Given the description of an element on the screen output the (x, y) to click on. 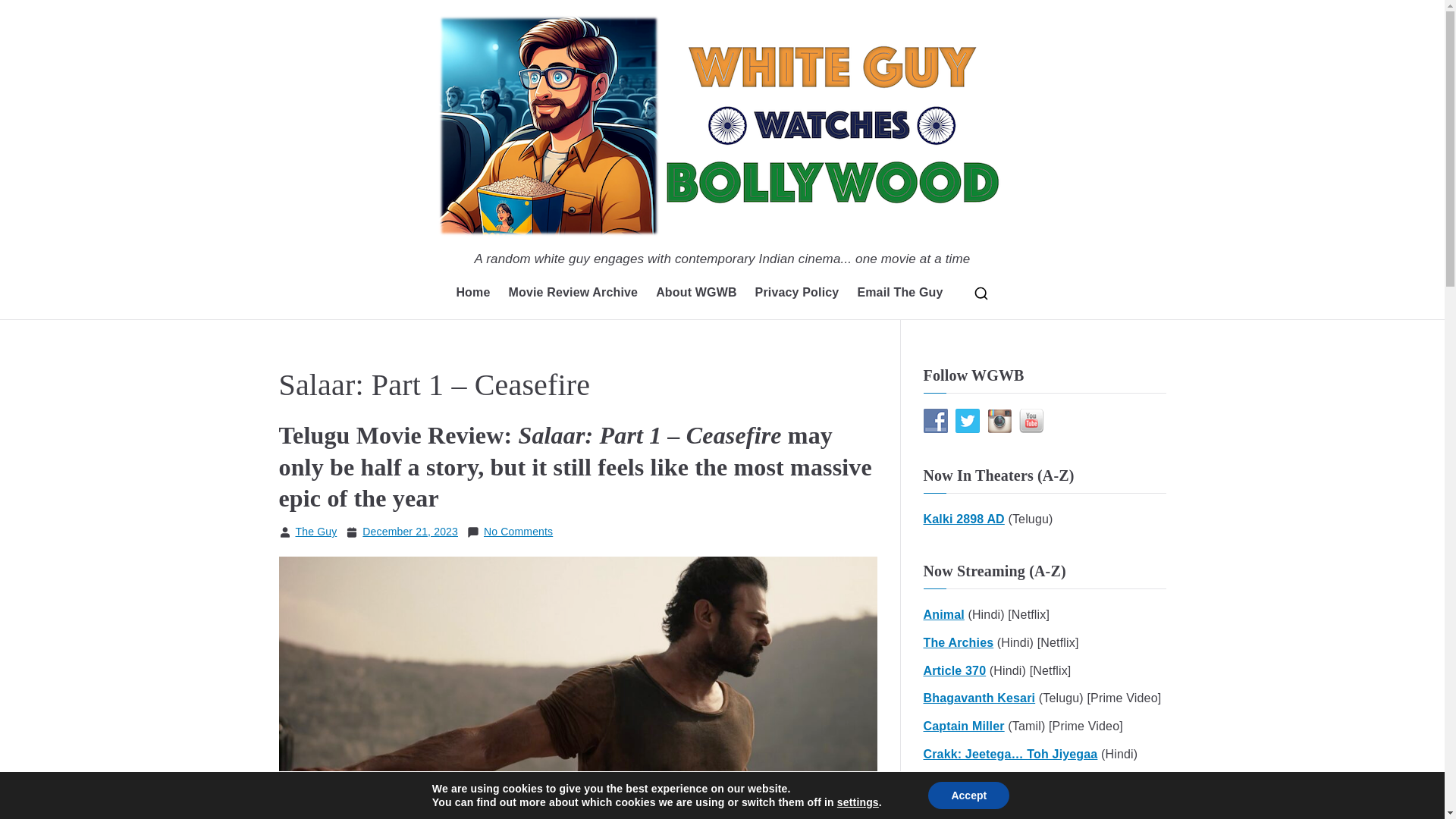
Search (26, 12)
December 21, 2023 (410, 531)
Follow Us on Instagram (999, 420)
The Guy (316, 531)
Animal (943, 615)
Kalki 2898 AD (963, 519)
Follow Us on Twitter (967, 420)
Privacy Policy (797, 292)
About WGWB (696, 292)
Captain Miller (963, 726)
Movie Review Archive (572, 292)
Email The Guy (899, 292)
The Archies (958, 643)
Article 370 (955, 671)
